Given the description of an element on the screen output the (x, y) to click on. 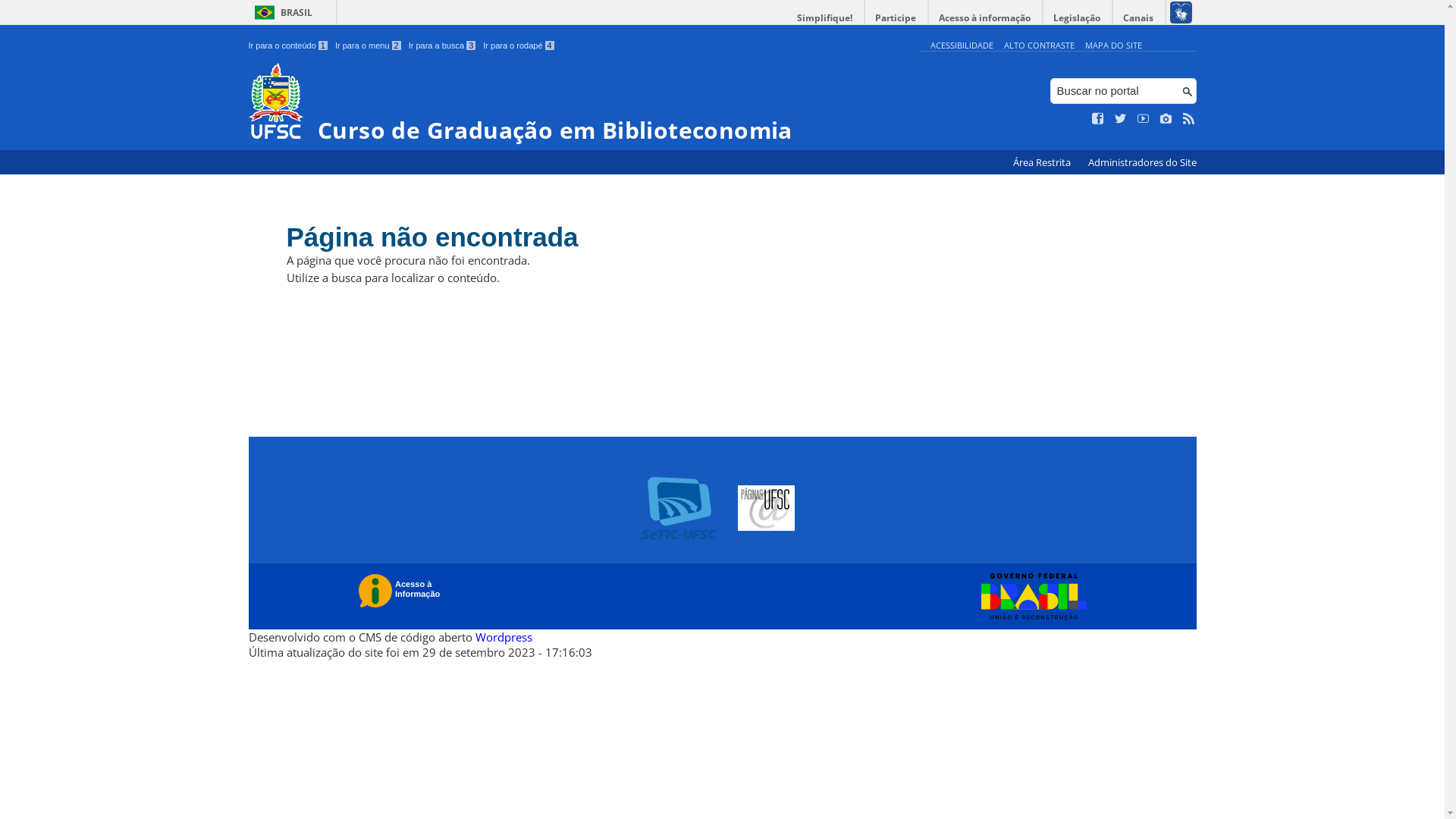
Participe Element type: text (895, 18)
Veja no Instagram Element type: hover (1166, 118)
Curta no Facebook Element type: hover (1098, 118)
BRASIL Element type: text (280, 12)
ALTO CONTRASTE Element type: text (1039, 44)
Ir para a busca 3 Element type: text (442, 45)
Administradores do Site Element type: text (1141, 162)
Siga no Twitter Element type: hover (1120, 118)
Canais Element type: text (1138, 18)
Wordpress Element type: text (502, 636)
Governo Federal Element type: hover (1029, 596)
Simplifique! Element type: text (825, 18)
MAPA DO SITE Element type: text (1112, 44)
ACESSIBILIDADE Element type: text (960, 44)
Ir para o menu 2 Element type: text (368, 45)
